Given the description of an element on the screen output the (x, y) to click on. 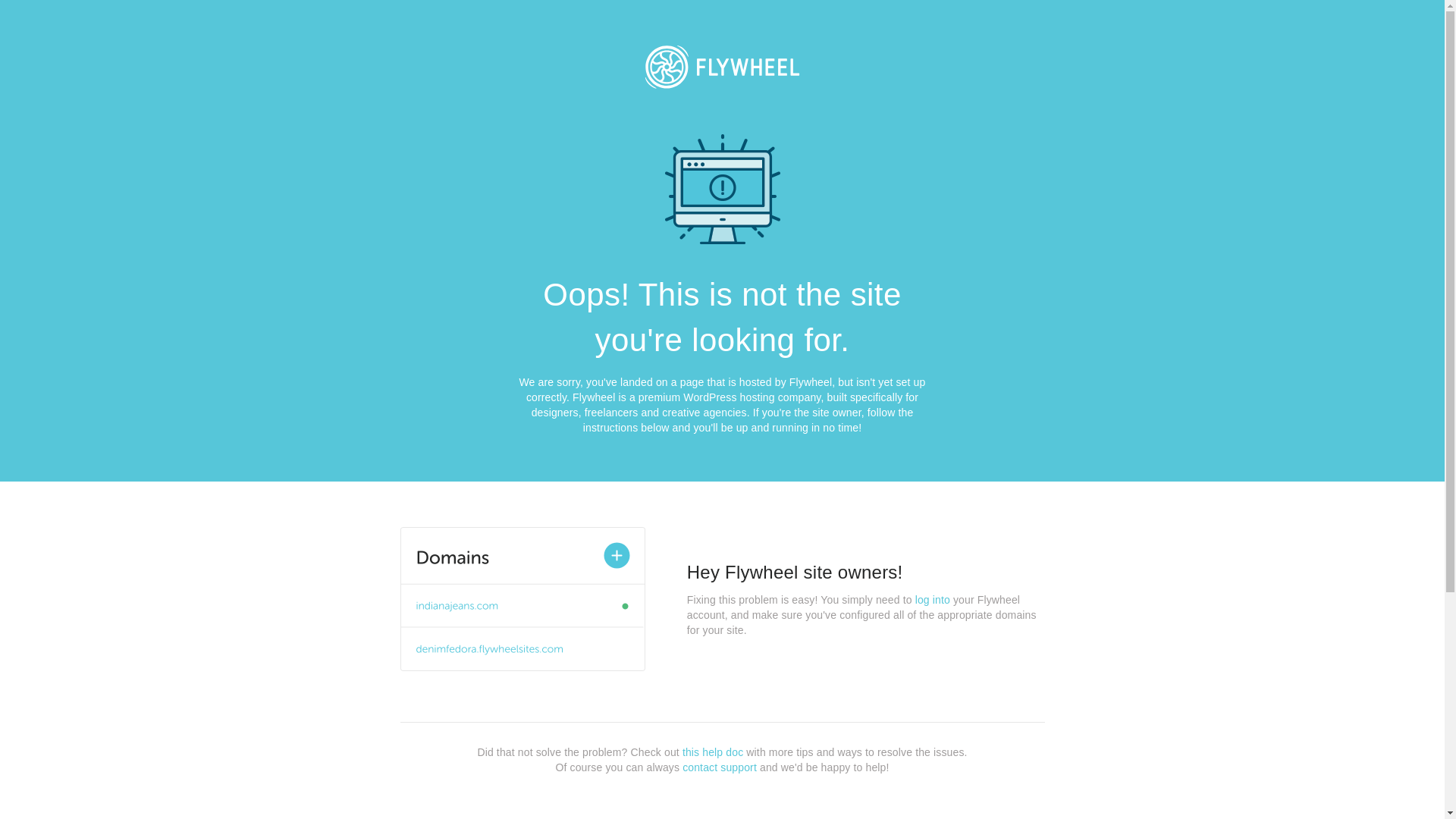
log into (932, 599)
contact support (719, 767)
this help doc (712, 752)
